Given the description of an element on the screen output the (x, y) to click on. 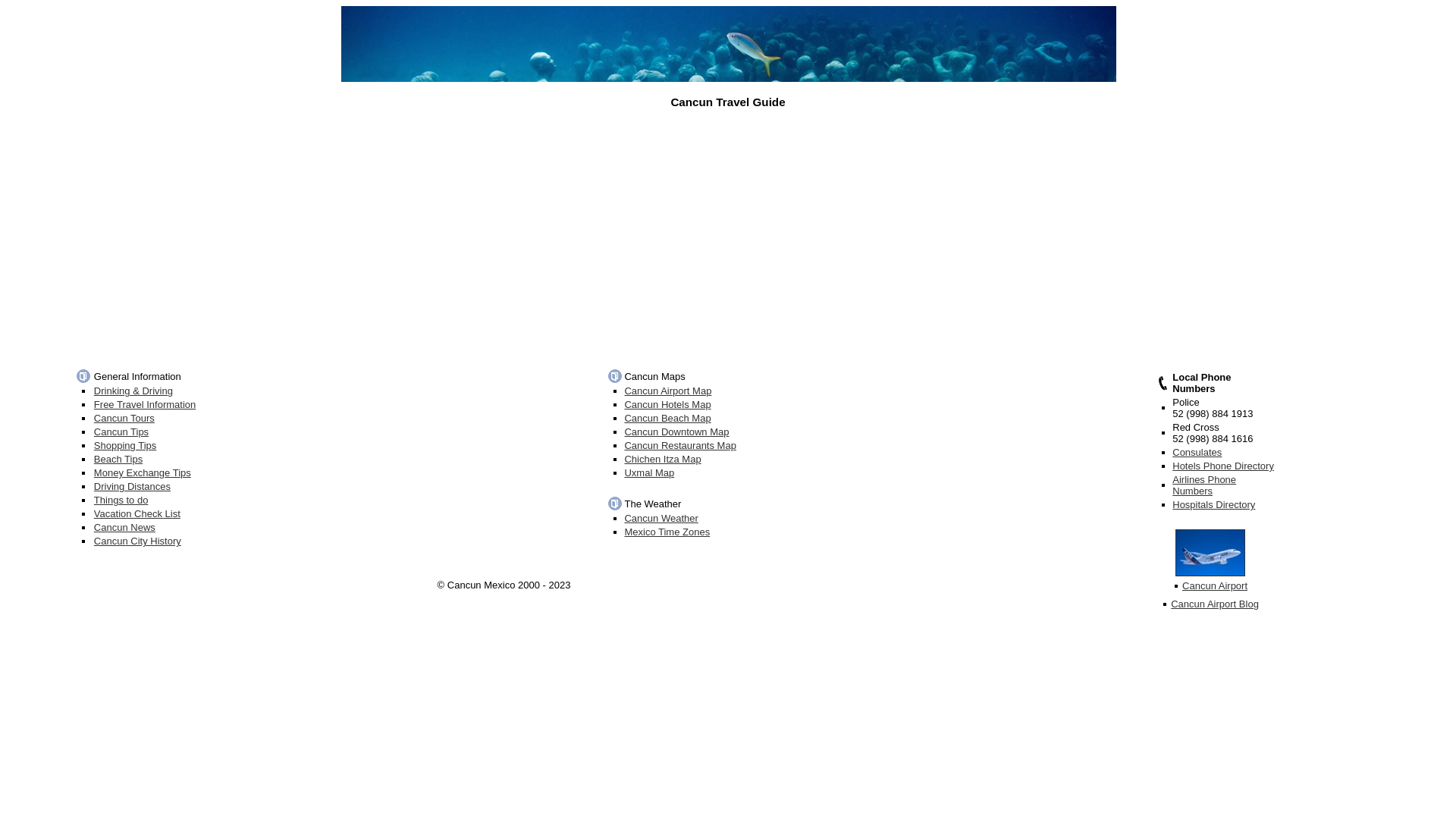
Mexico Time Zones Element type: text (666, 531)
Cancun Weather Element type: text (660, 518)
Cancun Airport Element type: text (1214, 585)
Cancun Tips Element type: text (121, 431)
Cancun News Element type: text (124, 527)
Airlines Phone Numbers Element type: text (1204, 484)
Hospitals Directory Element type: text (1213, 504)
Things to do Element type: text (121, 499)
Driving Distances Element type: text (132, 486)
Uxmal Map Element type: text (649, 472)
Cancun Tours Element type: text (124, 417)
Cancun Airport Map Element type: text (667, 390)
Cancun Hotels Map Element type: text (667, 404)
Advertisement Element type: hover (728, 235)
Hotels Phone Directory Element type: text (1223, 465)
Chichen Itza Map Element type: text (662, 458)
Cancun Downtown Map Element type: text (676, 431)
Free Travel Information Element type: text (144, 404)
Cancun City History Element type: text (137, 540)
Cancun Restaurants Map Element type: text (679, 445)
Drinking & Driving Element type: text (133, 390)
Vacation Check List Element type: text (137, 513)
Money Exchange Tips Element type: text (142, 472)
Cancun Beach Map Element type: text (667, 417)
Cancun Airport Blog Element type: text (1214, 603)
Consulates Element type: text (1196, 452)
Beach Tips Element type: text (118, 458)
Shopping Tips Element type: text (125, 445)
